Given the description of an element on the screen output the (x, y) to click on. 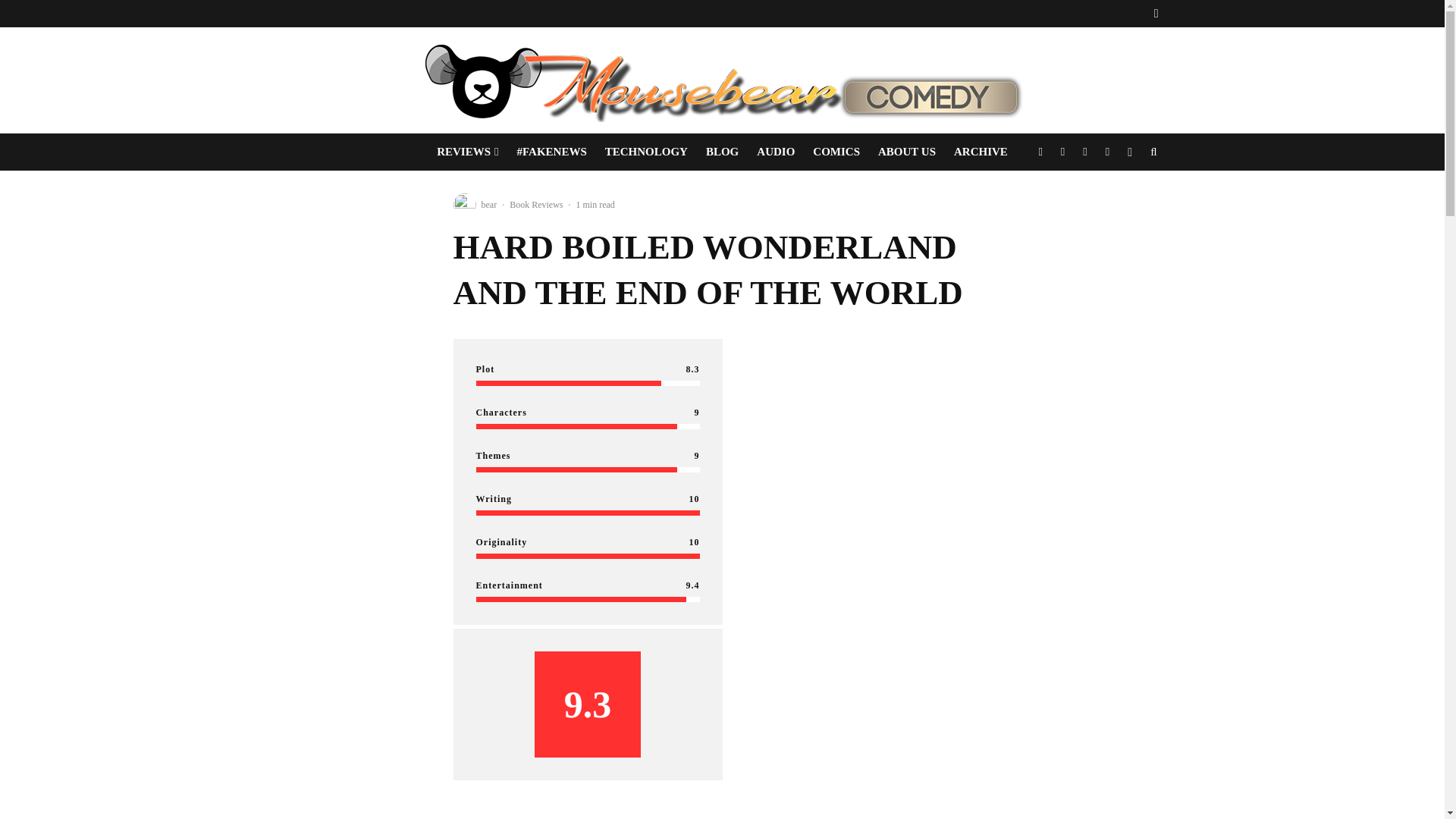
AUDIO (775, 151)
ABOUT US (906, 151)
BLOG (722, 151)
REVIEWS (467, 151)
COMICS (836, 151)
TECHNOLOGY (646, 151)
ARCHIVE (980, 151)
